Given the description of an element on the screen output the (x, y) to click on. 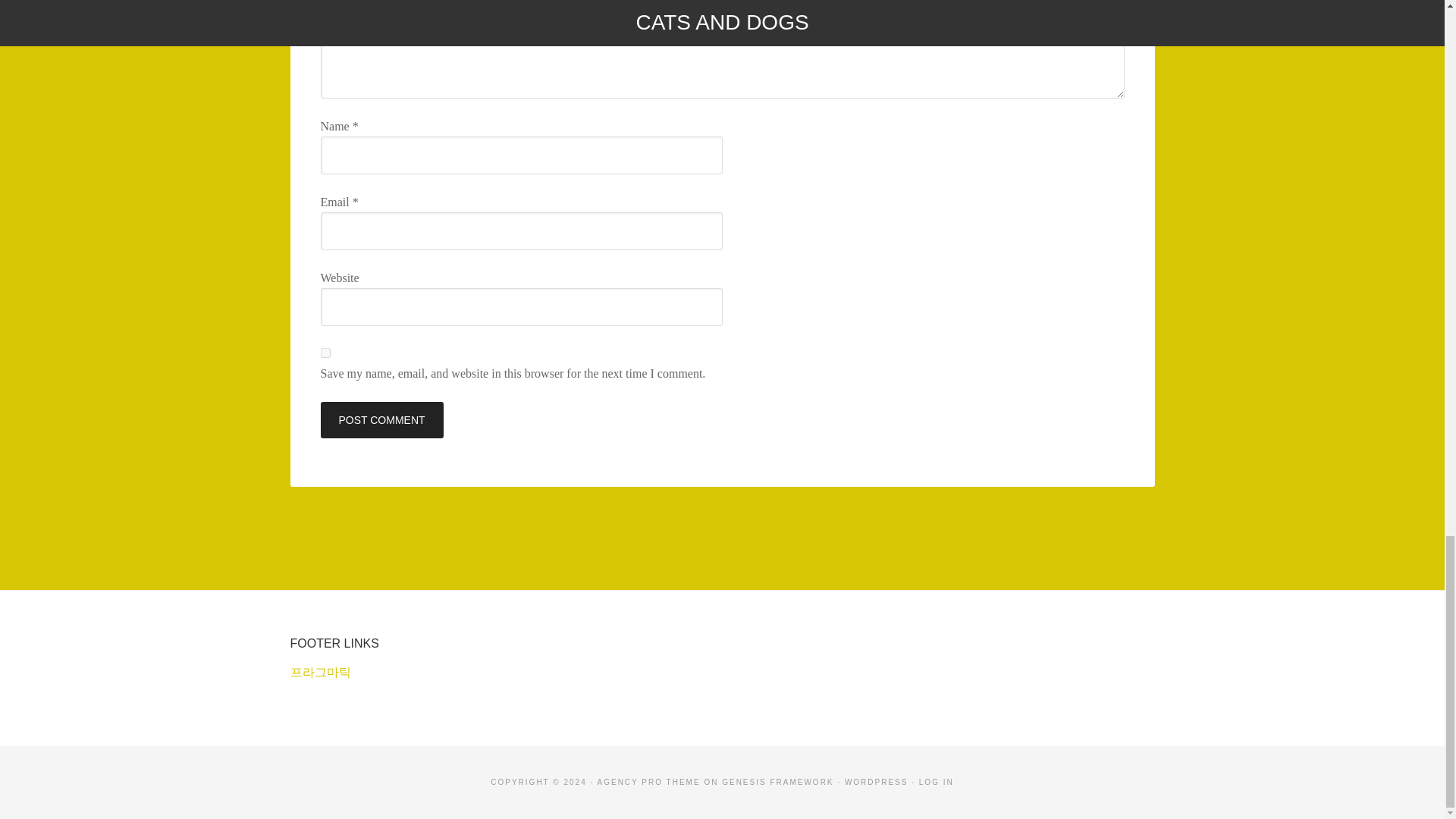
yes (325, 352)
WORDPRESS (876, 782)
GENESIS FRAMEWORK (777, 782)
Post Comment (381, 420)
AGENCY PRO THEME (648, 782)
LOG IN (935, 782)
Post Comment (381, 420)
